Given the description of an element on the screen output the (x, y) to click on. 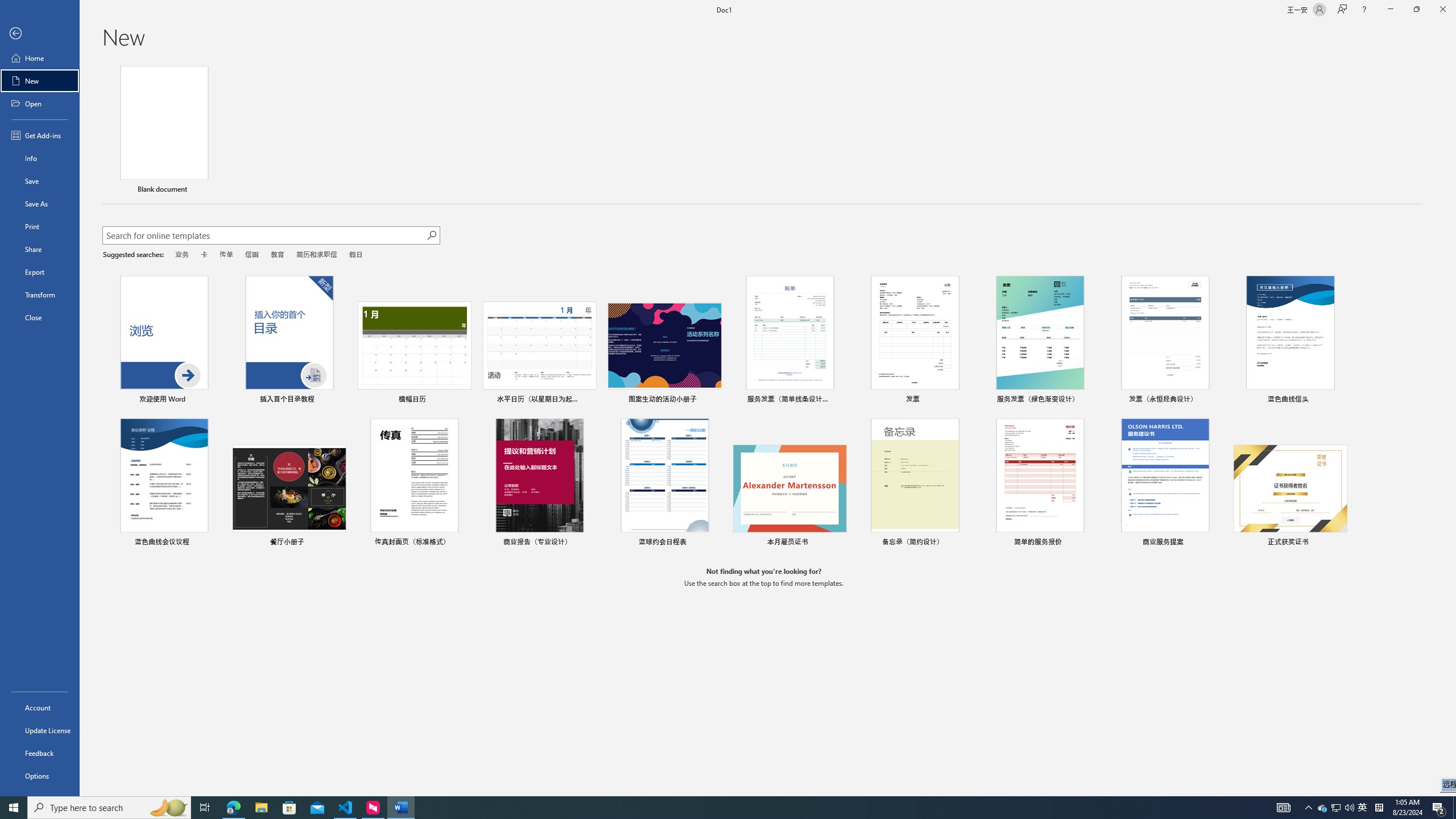
Account (40, 707)
Transform (40, 294)
Save (40, 180)
Home (40, 57)
Restore Down (1416, 9)
Info (40, 157)
Minimize (1390, 9)
Share (40, 248)
